Given the description of an element on the screen output the (x, y) to click on. 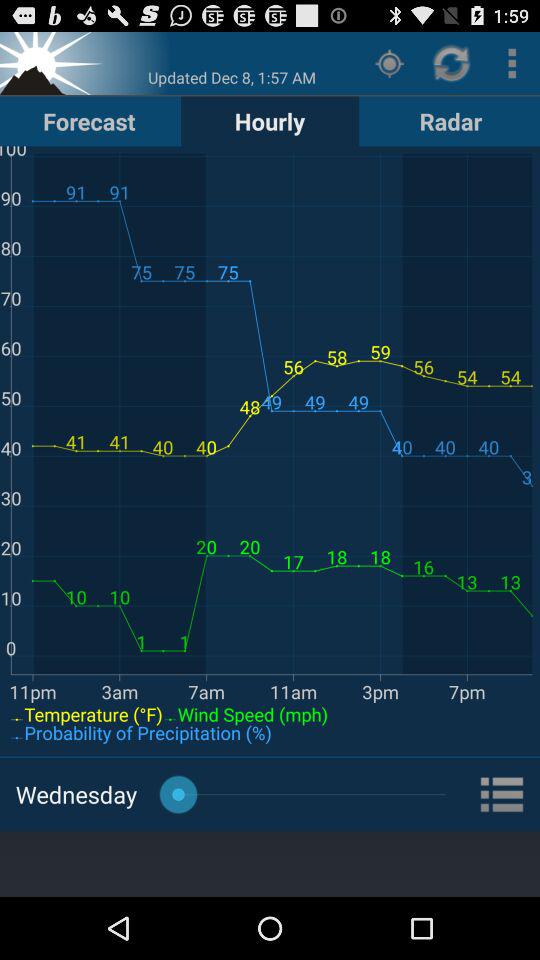
select the icon next to forecast button (270, 120)
